Given the description of an element on the screen output the (x, y) to click on. 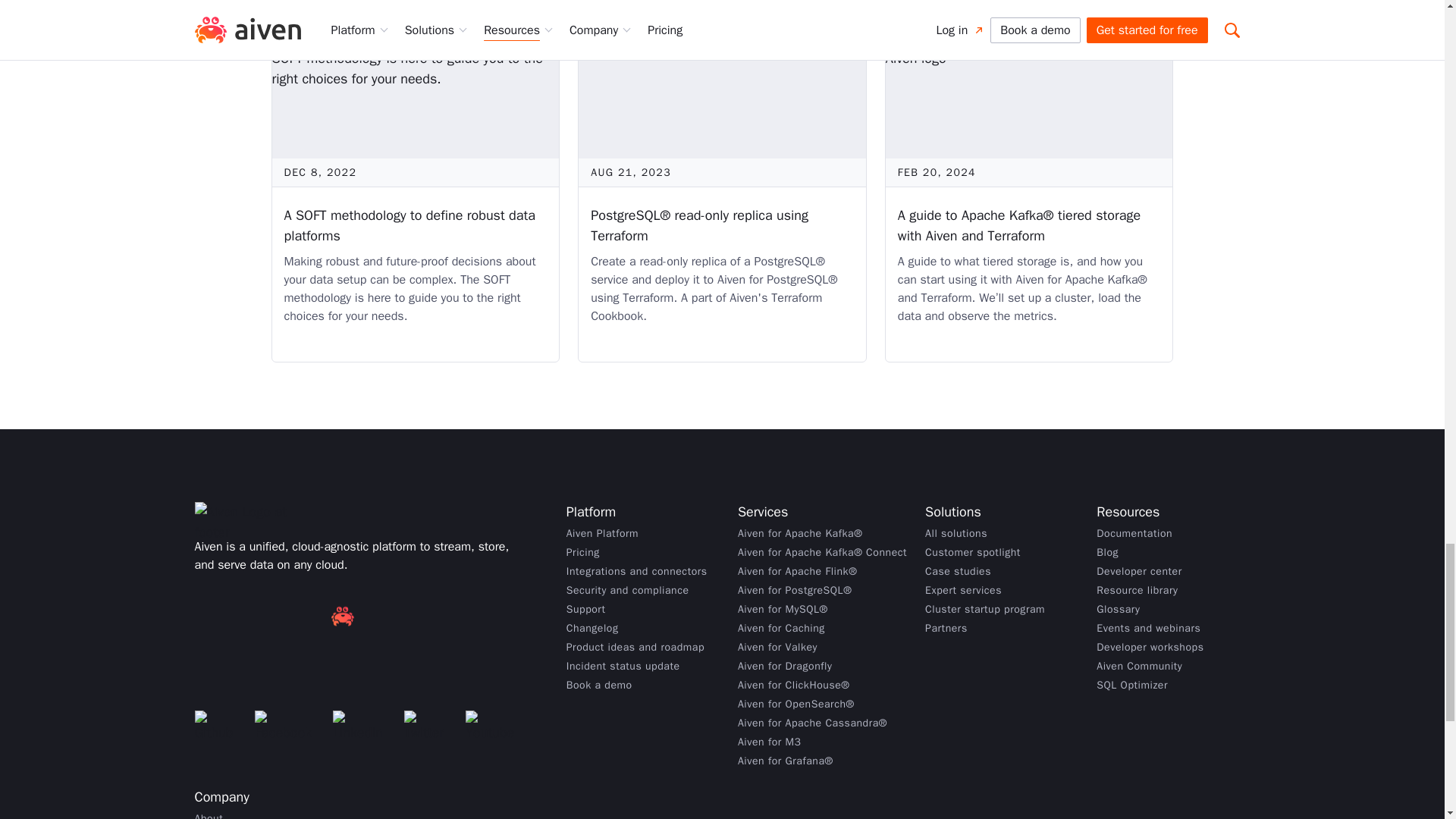
Github (218, 726)
Facebook (287, 726)
LinkedIn (362, 726)
Twitter (428, 726)
Youtube (494, 726)
